Given the description of an element on the screen output the (x, y) to click on. 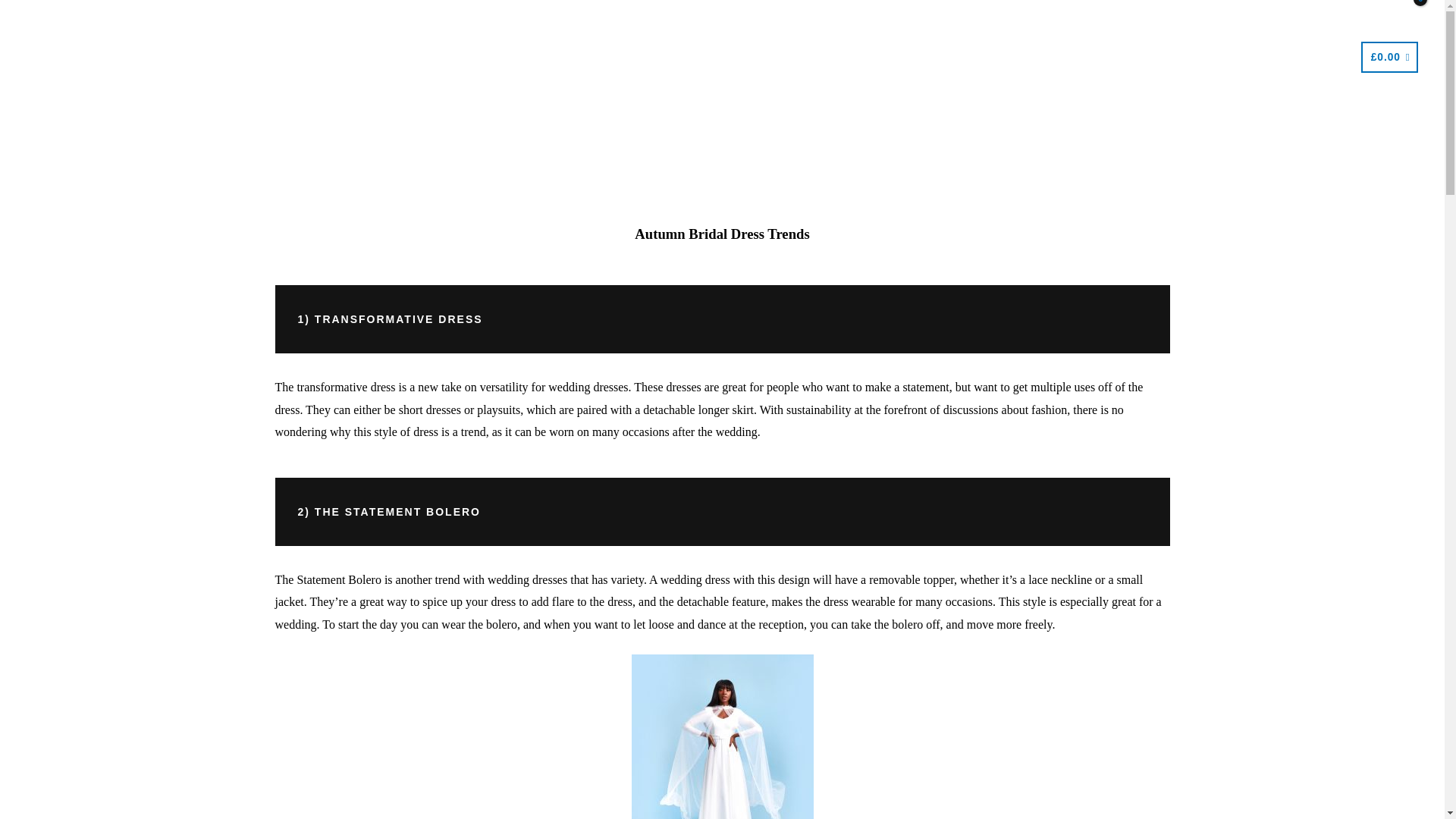
BLOG (865, 57)
COLLECTIONS (563, 57)
REQUEST AN APPOINTMENT (1246, 57)
ABOUT (665, 57)
SHOP (465, 57)
